Given the description of an element on the screen output the (x, y) to click on. 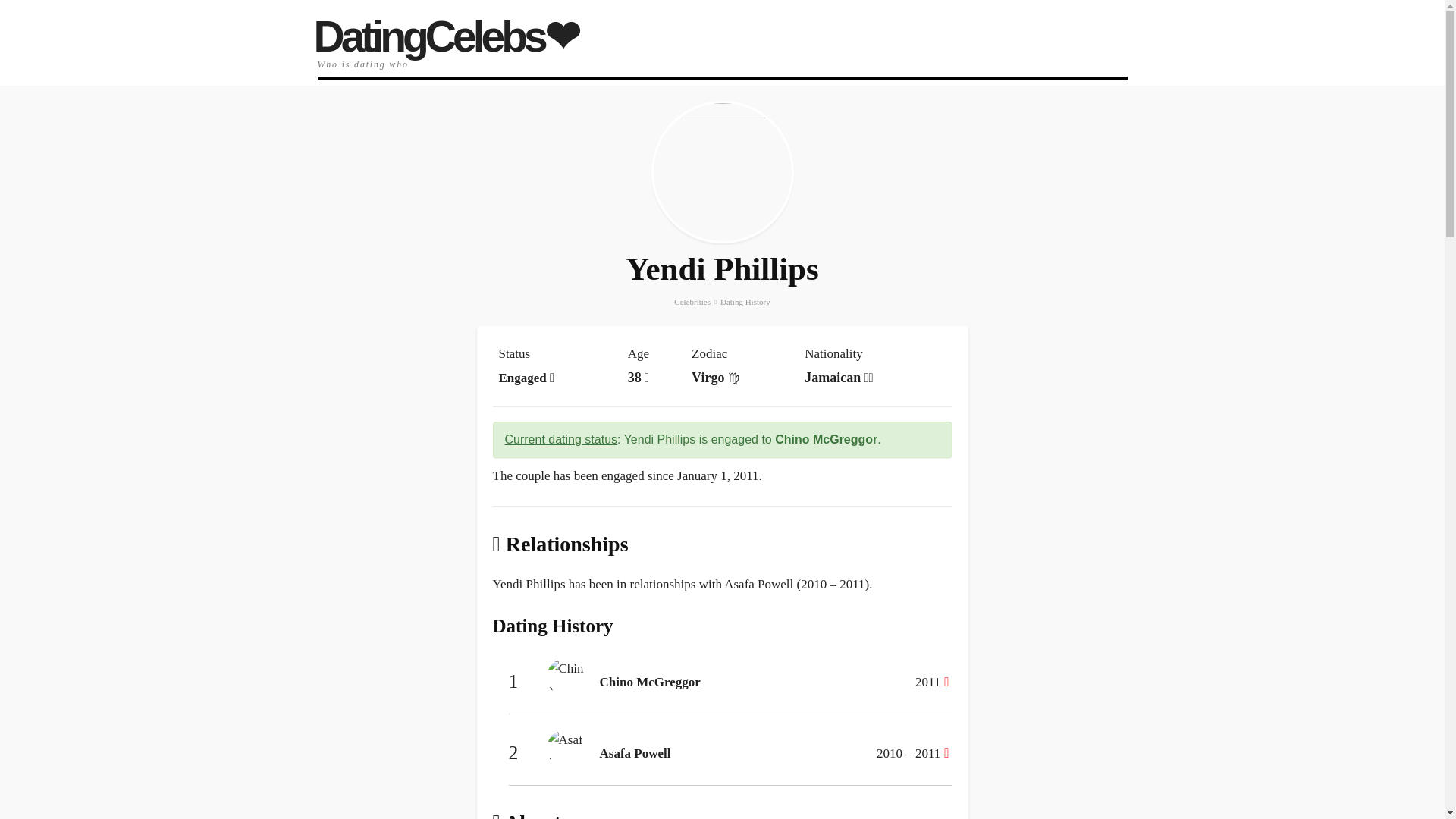
View all posts in Dating History (745, 301)
Dating History (745, 301)
Celebrities (692, 301)
